Given the description of an element on the screen output the (x, y) to click on. 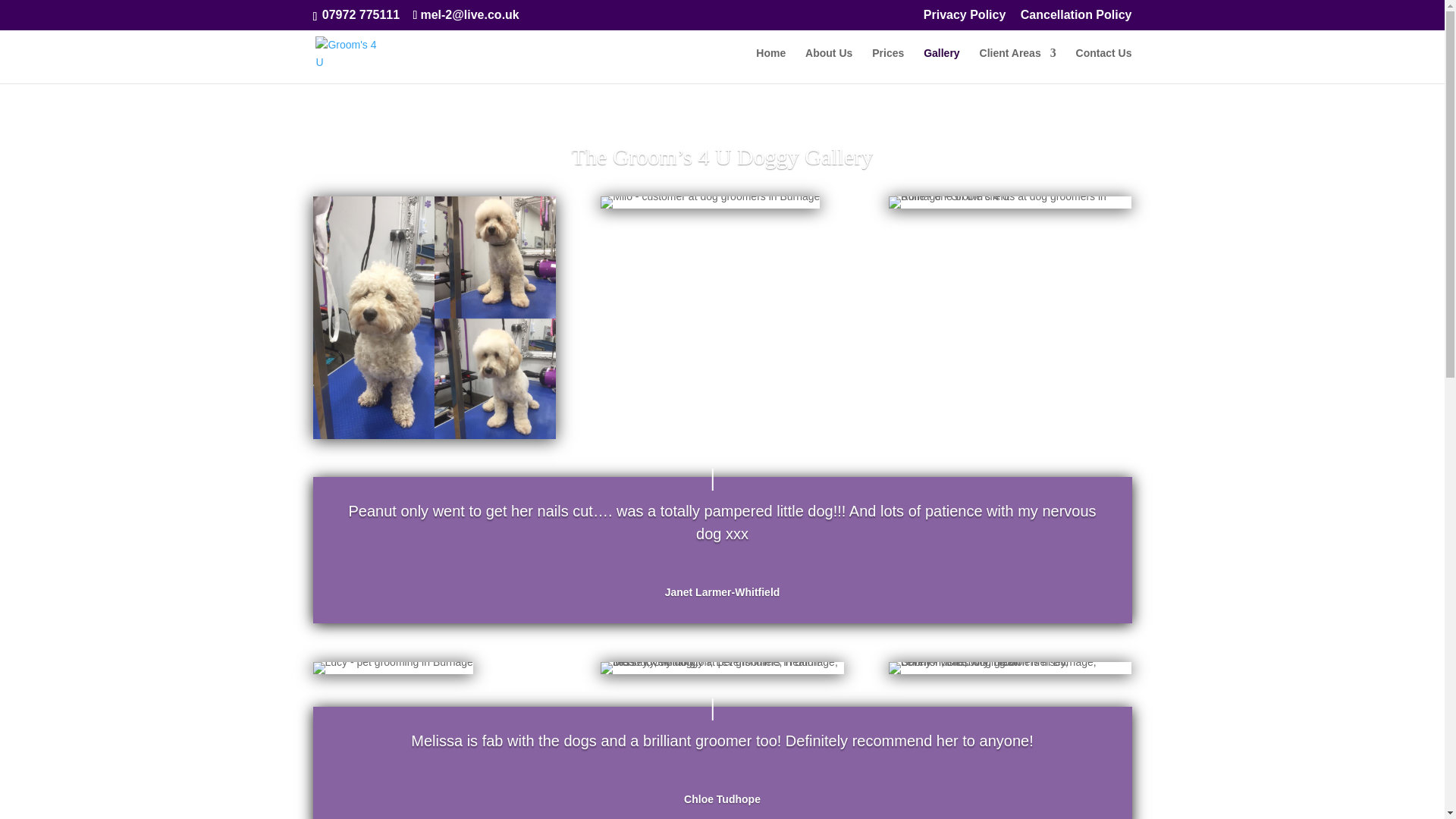
Contact Us (1103, 65)
Client Areas (1018, 65)
Cancellation Policy (1076, 19)
Gallery (941, 65)
About Us (828, 65)
Privacy Policy (964, 19)
Prices (888, 65)
